Given the description of an element on the screen output the (x, y) to click on. 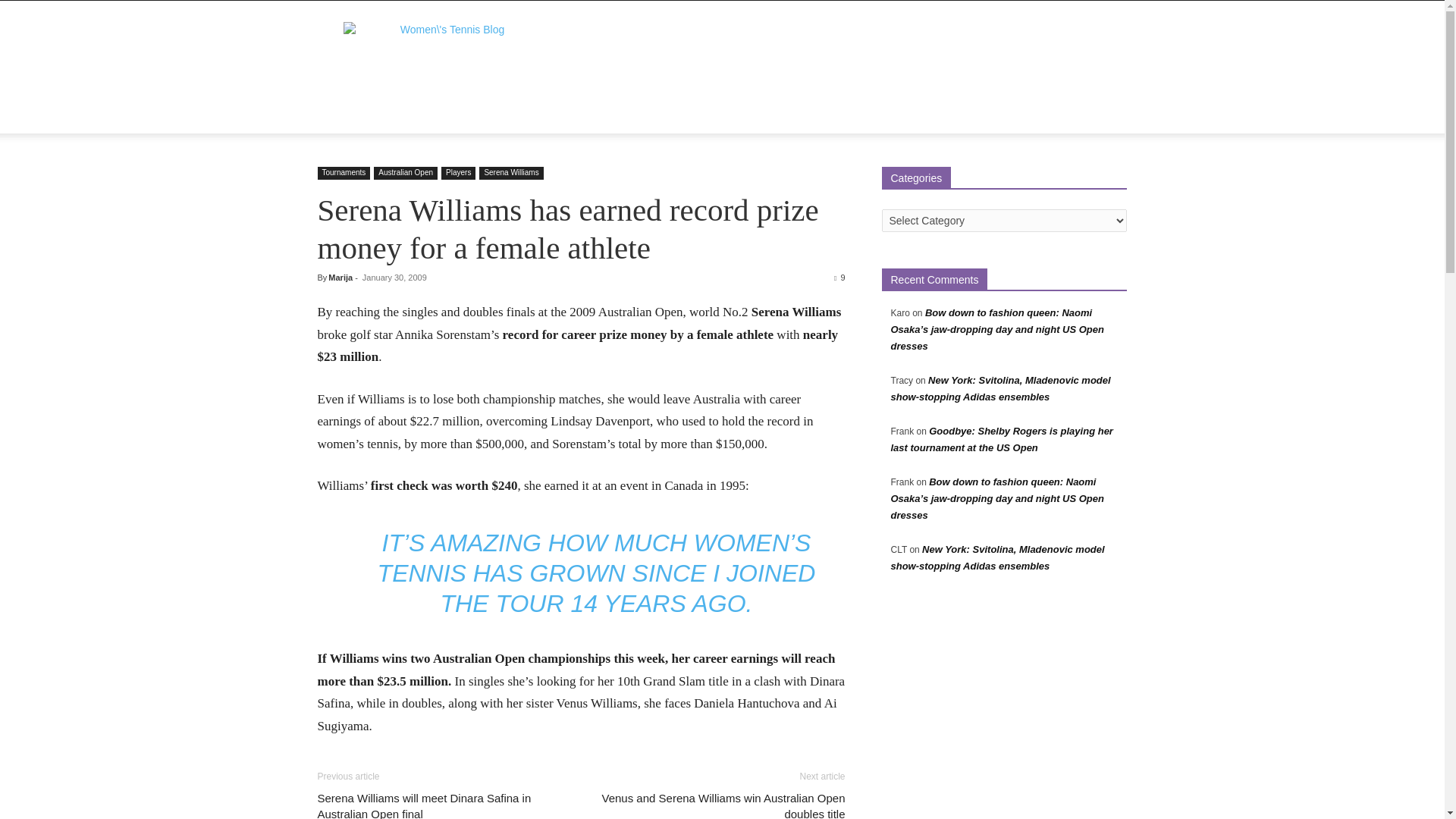
Contact Us (659, 115)
About (389, 115)
Subscribe (728, 115)
Search (1085, 175)
Featured (445, 115)
Home (341, 115)
